Given the description of an element on the screen output the (x, y) to click on. 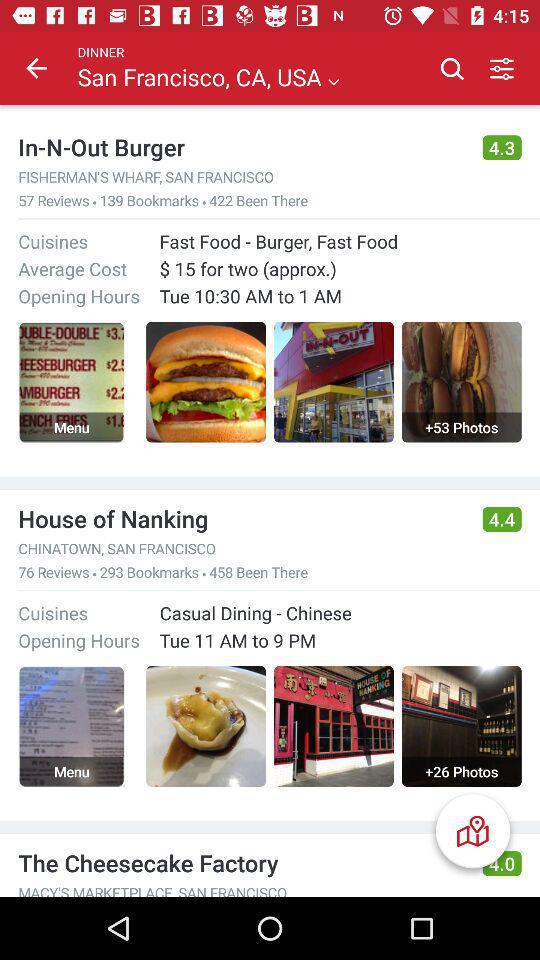
open tue 10 30 (250, 295)
